Given the description of an element on the screen output the (x, y) to click on. 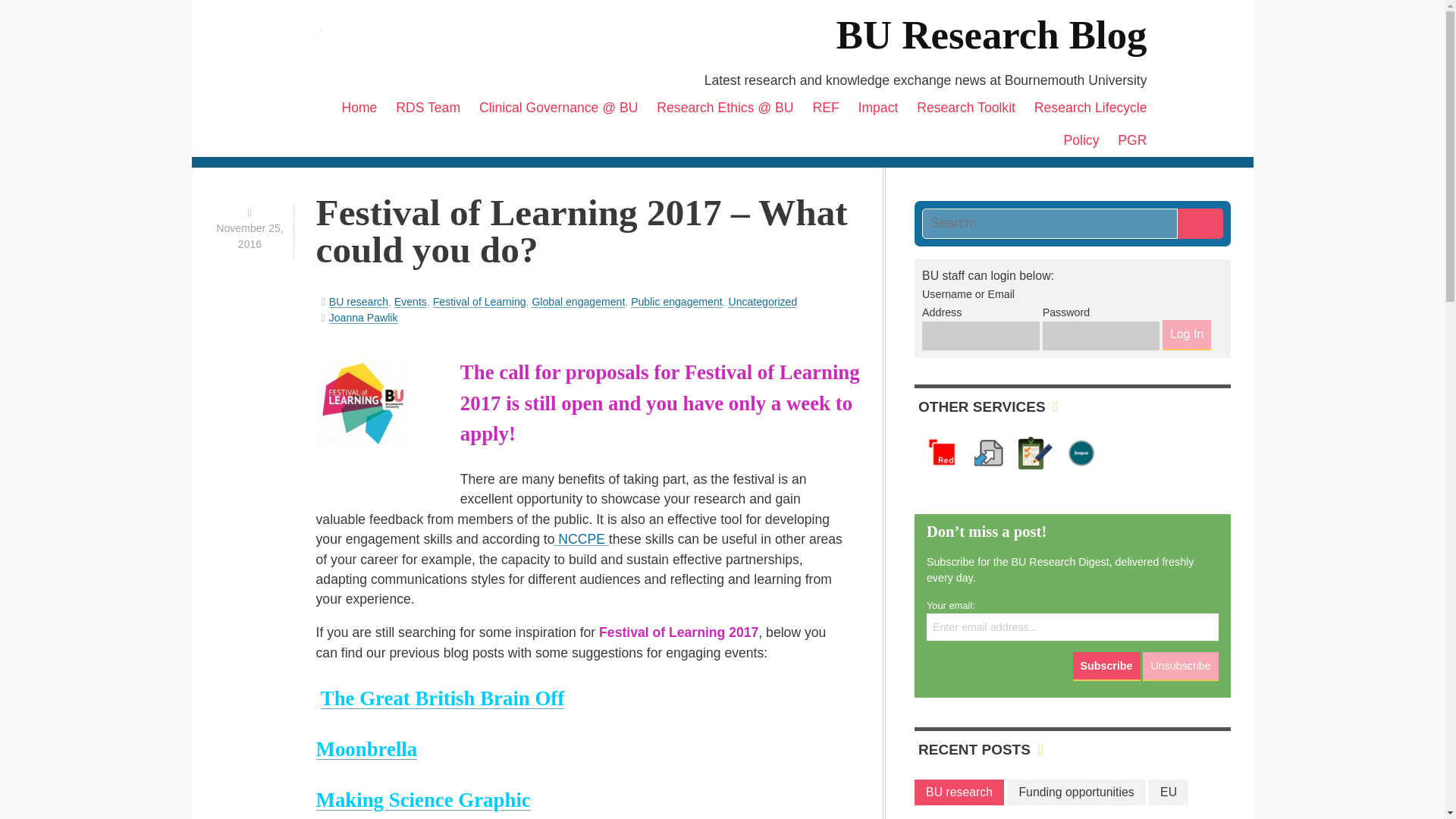
Enter email address... (1072, 626)
Bournemouth University (263, 60)
Research Toolkit (965, 107)
Subscribe (1106, 665)
RDS Team (427, 107)
Impact (877, 107)
BU Research Blog (991, 34)
Home (358, 107)
REF (825, 107)
Search (1200, 223)
